Given the description of an element on the screen output the (x, y) to click on. 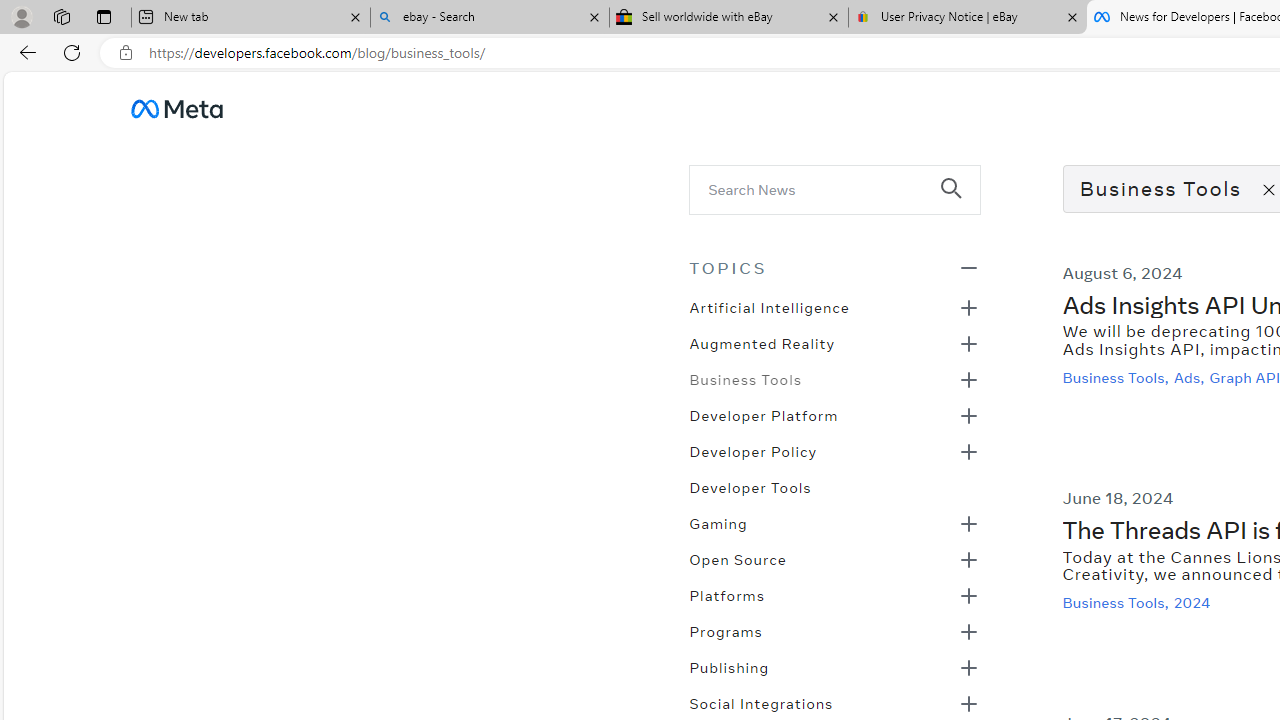
Gaming (717, 521)
Class: _58al (820, 188)
Artificial Intelligence (768, 305)
Publishing (729, 665)
2024 (1194, 602)
Personal Profile (21, 16)
Programs (725, 629)
User Privacy Notice | eBay (967, 17)
Ads, (1190, 377)
Class: _98ex _98ez (834, 673)
New tab (250, 17)
Social Integrations (761, 701)
Open Source (737, 557)
Augmented Reality (761, 341)
Refresh (72, 52)
